Given the description of an element on the screen output the (x, y) to click on. 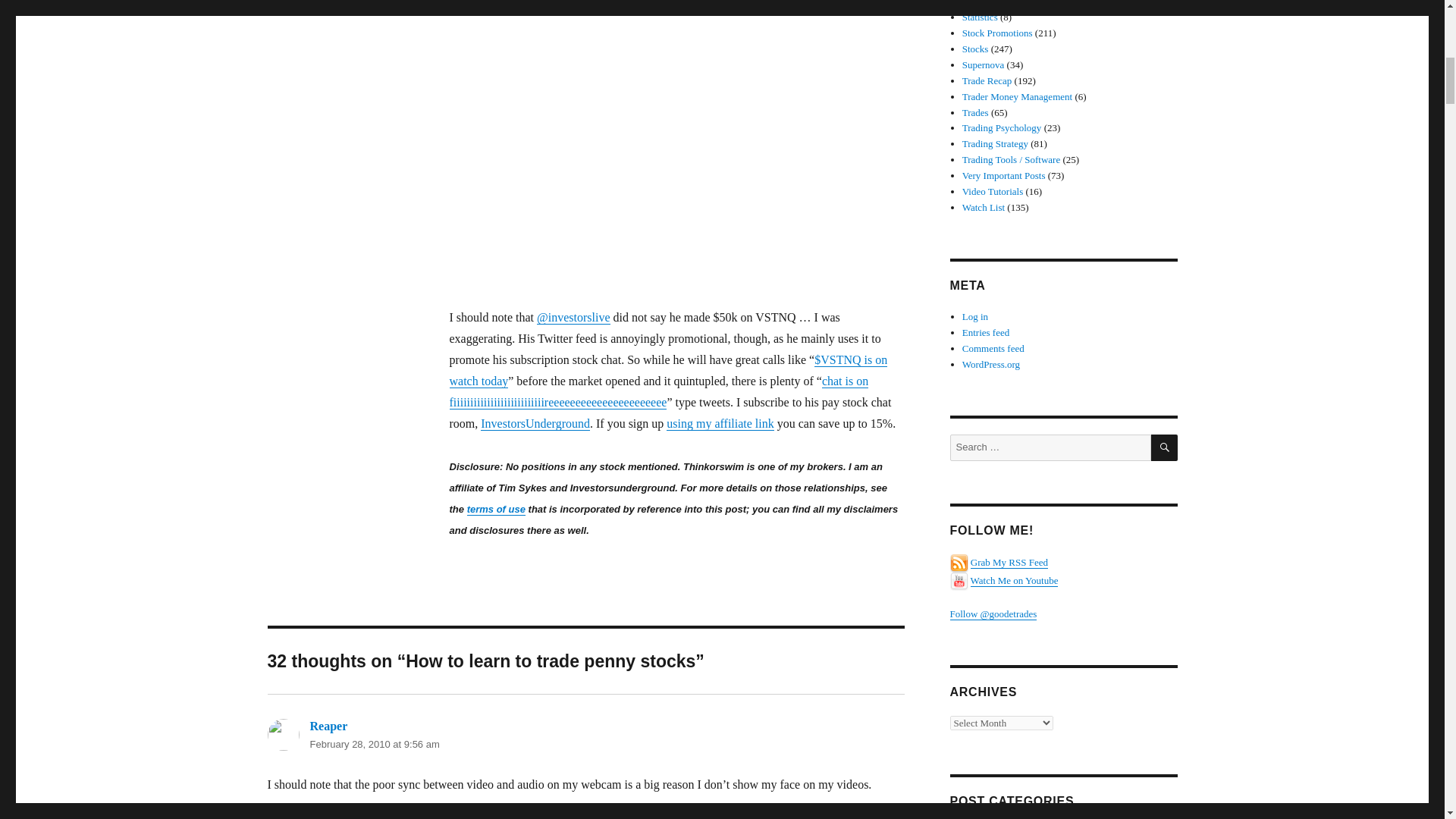
using my affiliate link (719, 422)
Reaper (327, 725)
terms of use (496, 509)
InvestorsUnderground (534, 422)
February 28, 2010 at 9:56 am (373, 744)
